Given the description of an element on the screen output the (x, y) to click on. 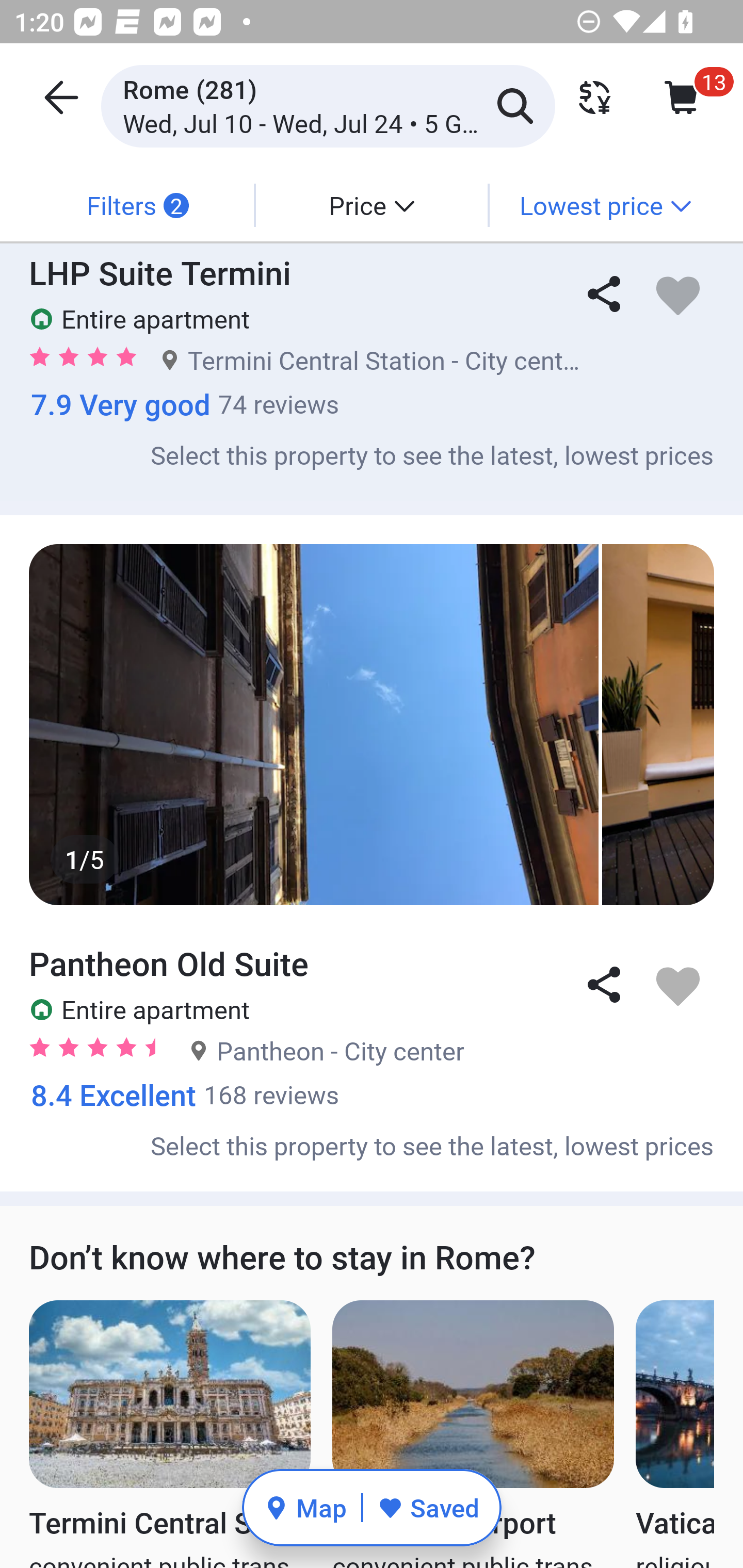
Rome (281) Wed, Jul 10 - Wed, Jul 24 • 5 Guests (327, 105)
Filters 2 (137, 205)
Price (371, 205)
Lowest price (605, 205)
1/5 (371, 724)
Fiumicino Airport convenient public transportation (472, 1433)
Map (305, 1507)
Saved (428, 1507)
